Given the description of an element on the screen output the (x, y) to click on. 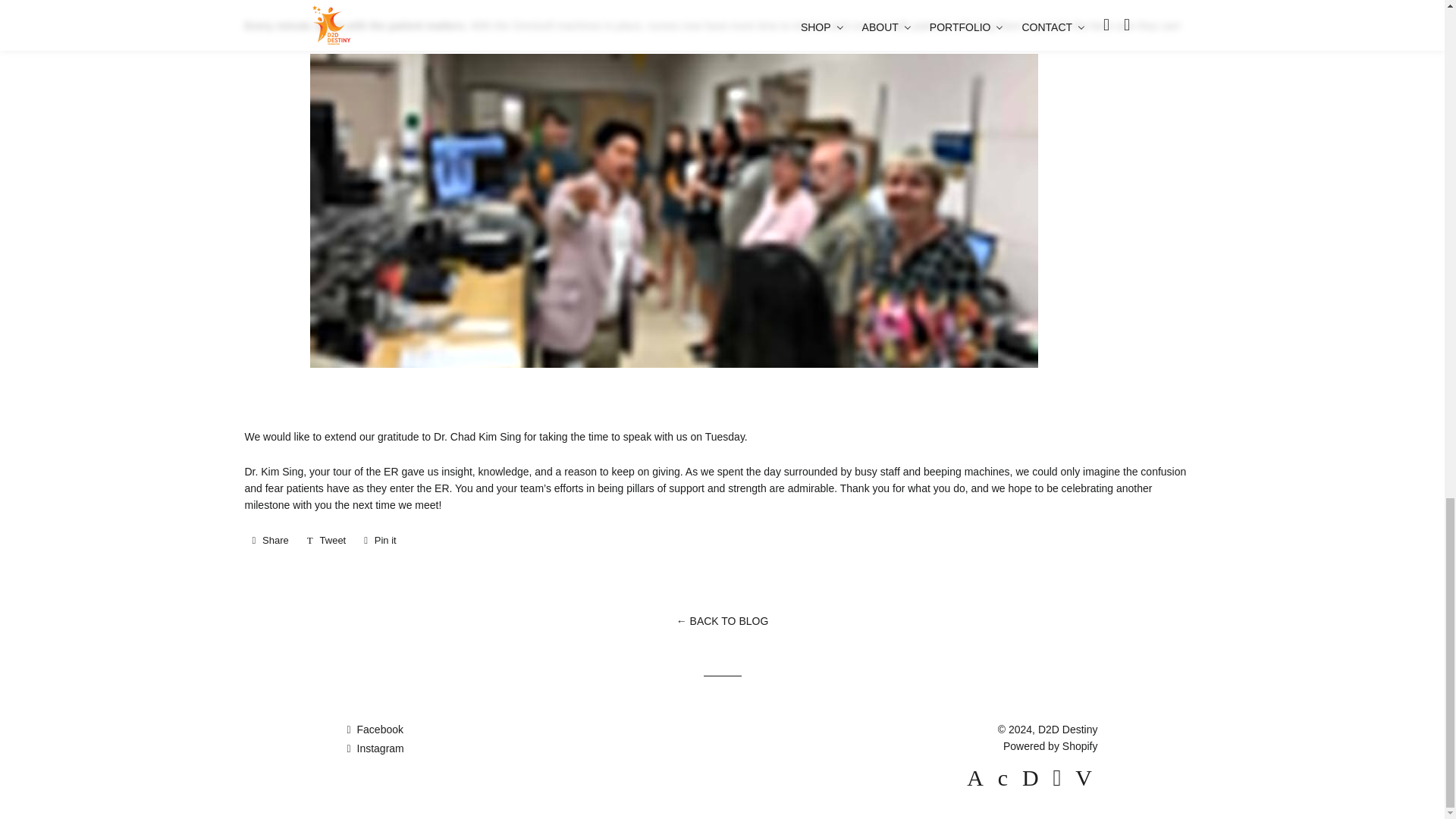
Share on Facebook (269, 540)
